Given the description of an element on the screen output the (x, y) to click on. 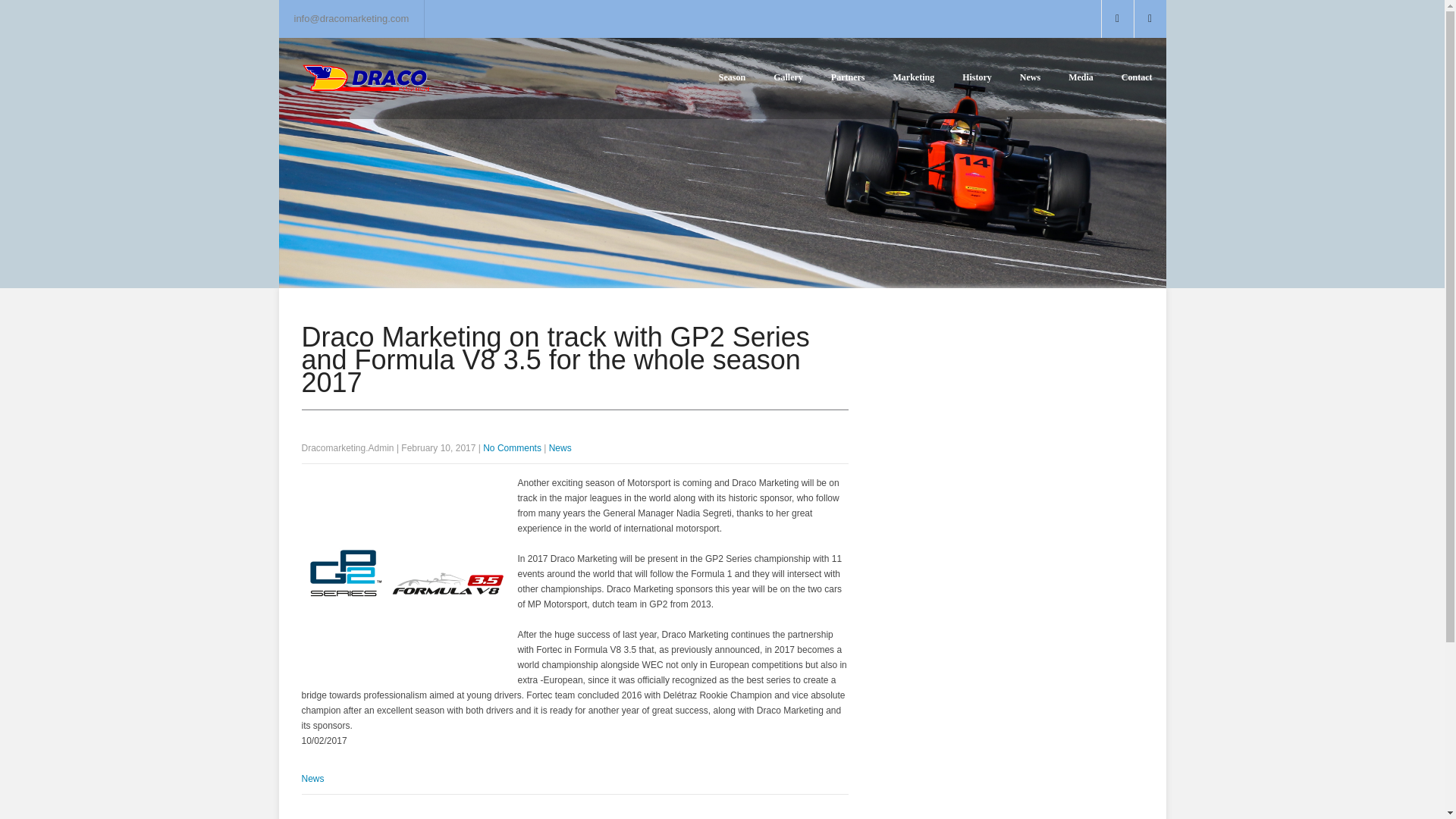
No Comments (512, 448)
View all posts in News (312, 778)
News (312, 778)
View all posts in News (560, 448)
News (560, 448)
